Given the description of an element on the screen output the (x, y) to click on. 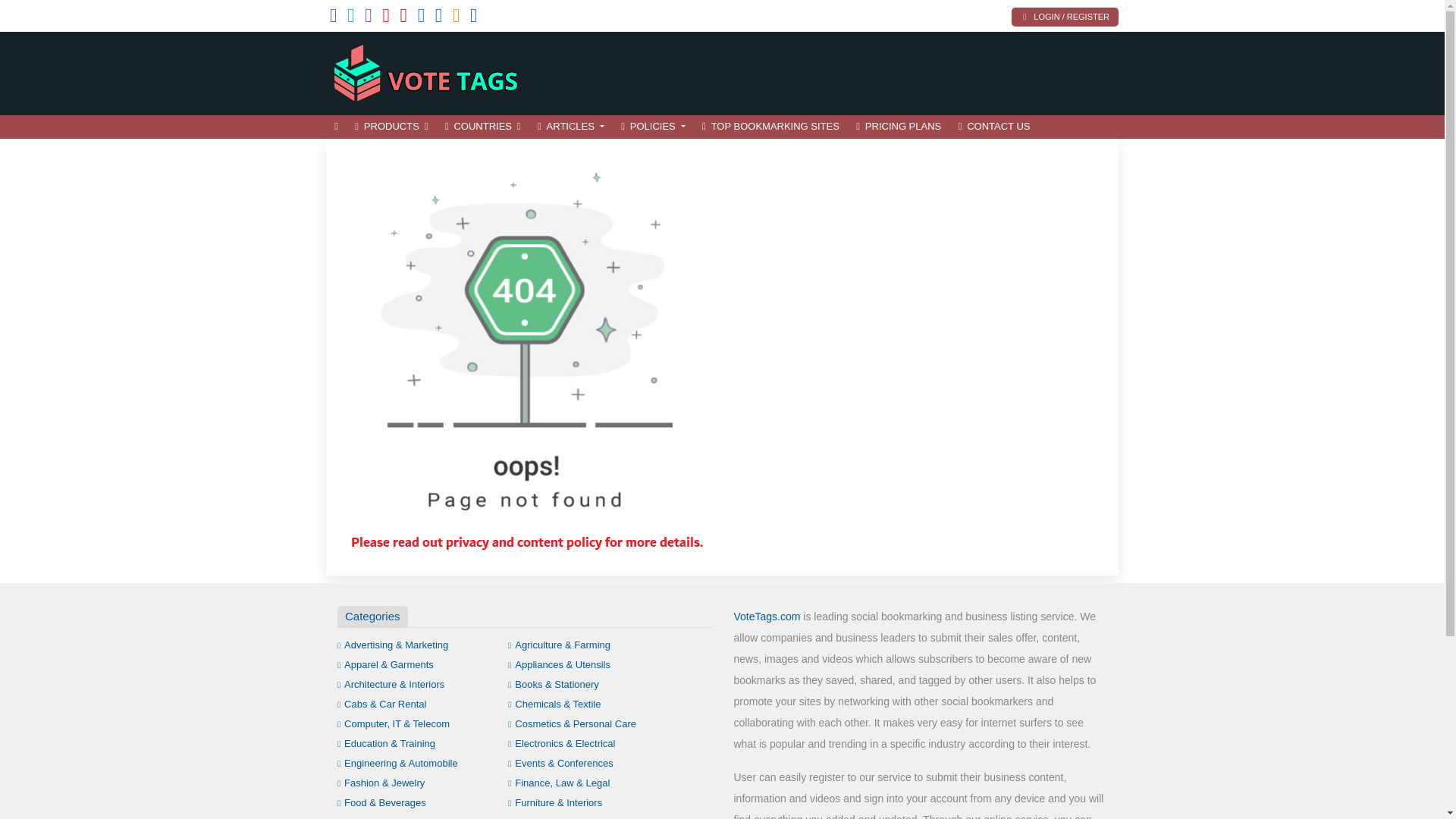
HOME (336, 126)
Leading Social Bookmarking Service for Business Promotion (428, 71)
Twitter (351, 18)
YouTube (385, 18)
Tumblr (421, 18)
Medium (438, 18)
Instagram (368, 18)
Linked In (473, 18)
Pinterest (403, 18)
RSS Feed (456, 18)
PRODUCTS (391, 126)
Facebook (333, 18)
